Given the description of an element on the screen output the (x, y) to click on. 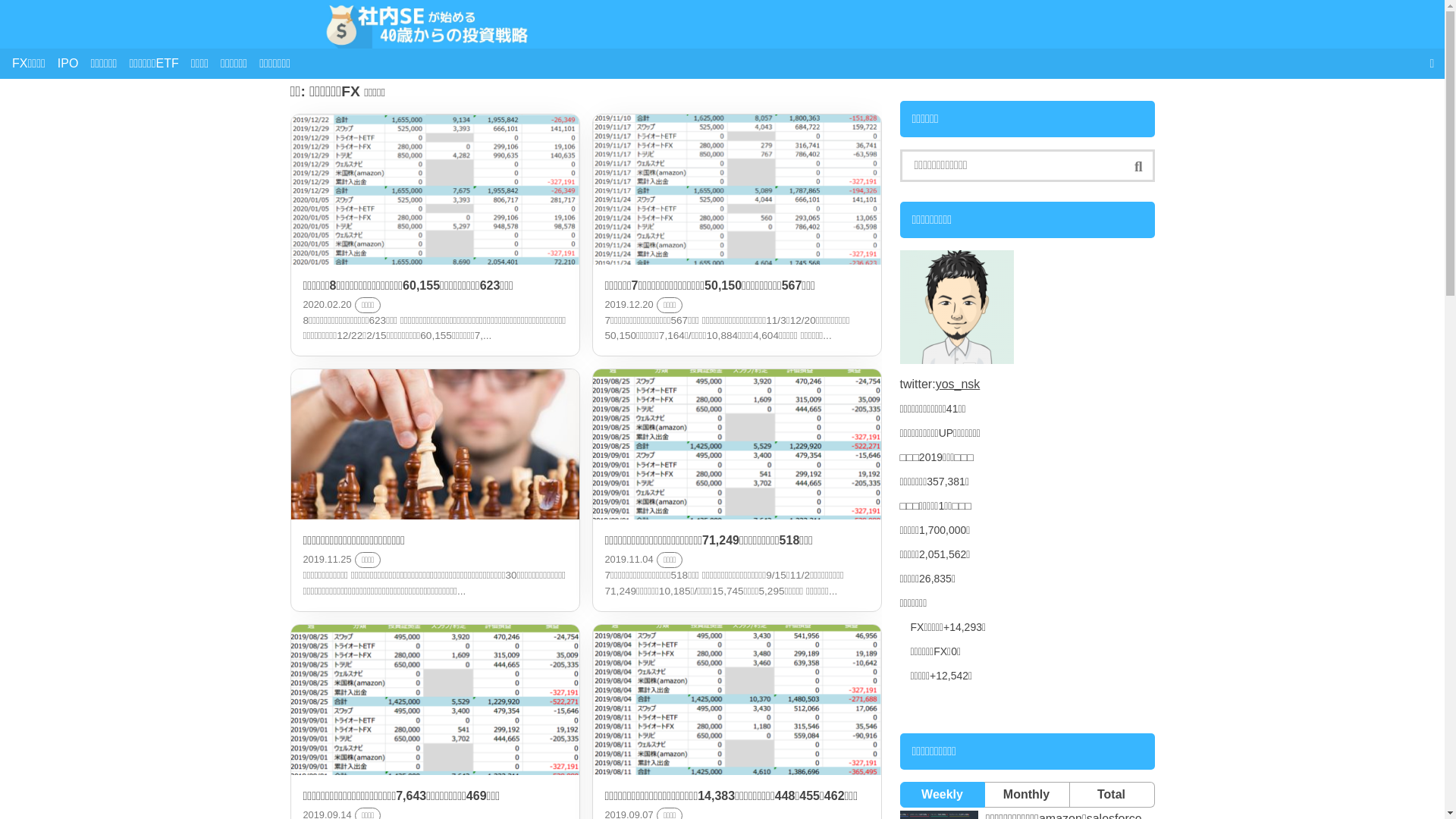
yos_nsk Element type: text (957, 383)
IPO Element type: text (67, 62)
